Given the description of an element on the screen output the (x, y) to click on. 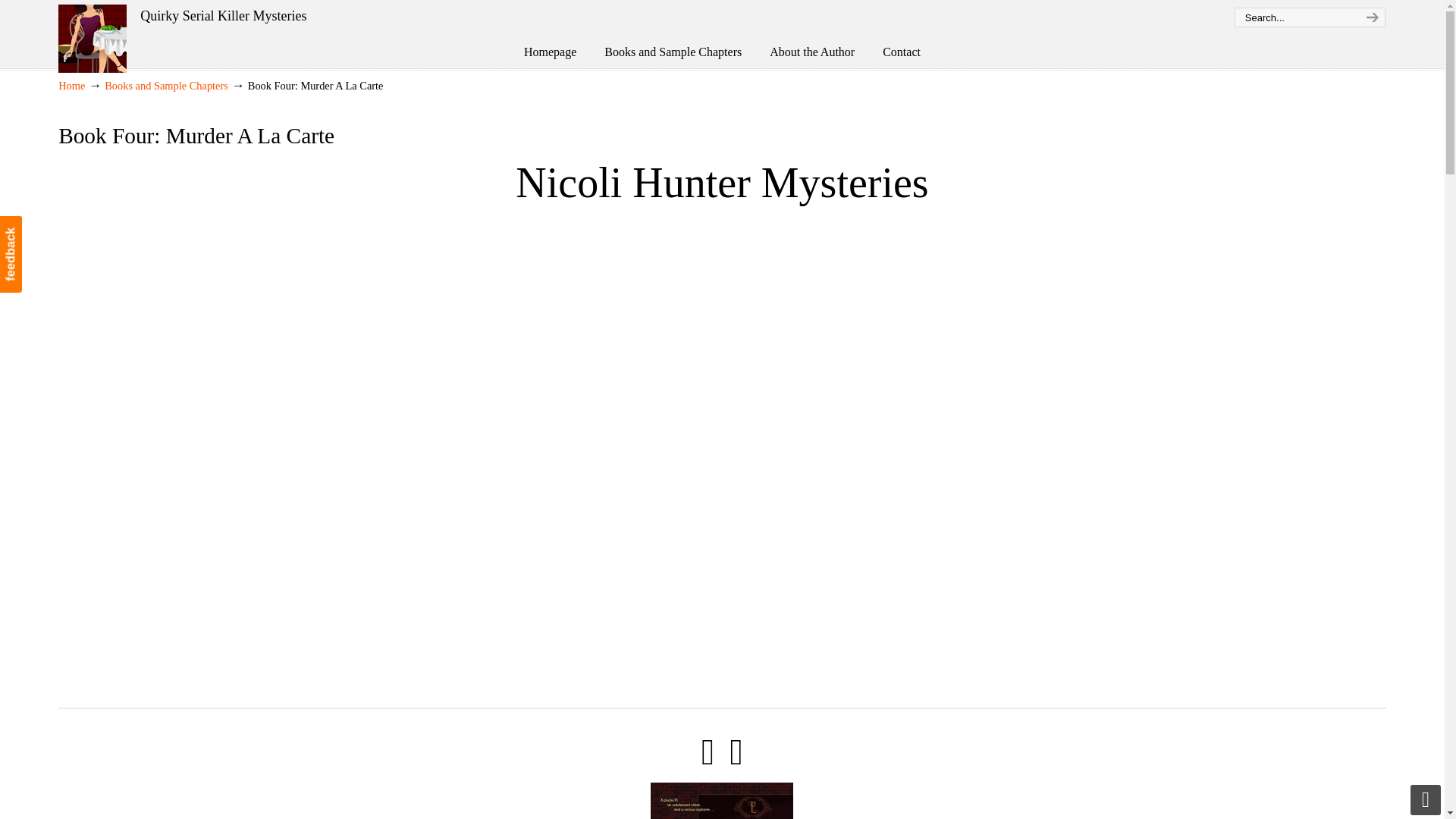
search (1370, 17)
search (1370, 17)
Nicoli Hunter Mysteries (92, 38)
Books and Sample Chapters (166, 85)
Home (71, 85)
Books and Sample Chapters (673, 51)
Search... (1294, 17)
search (1370, 17)
Nicoli Hunter Mysteries (92, 38)
Contact (901, 51)
Homepage (549, 51)
feedback (37, 227)
About the Author (811, 51)
